Given the description of an element on the screen output the (x, y) to click on. 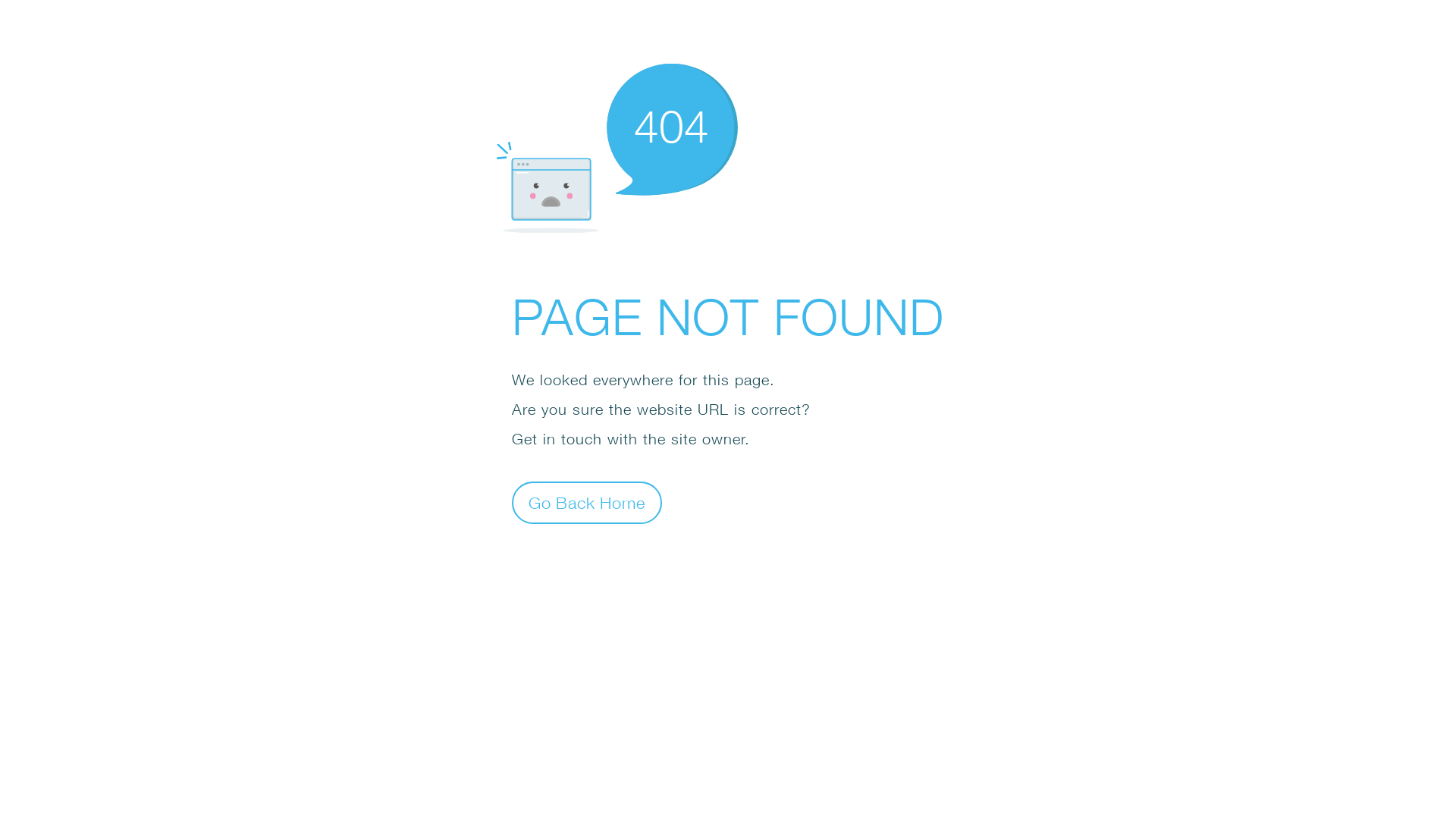
Go Back Home Element type: text (586, 502)
